Given the description of an element on the screen output the (x, y) to click on. 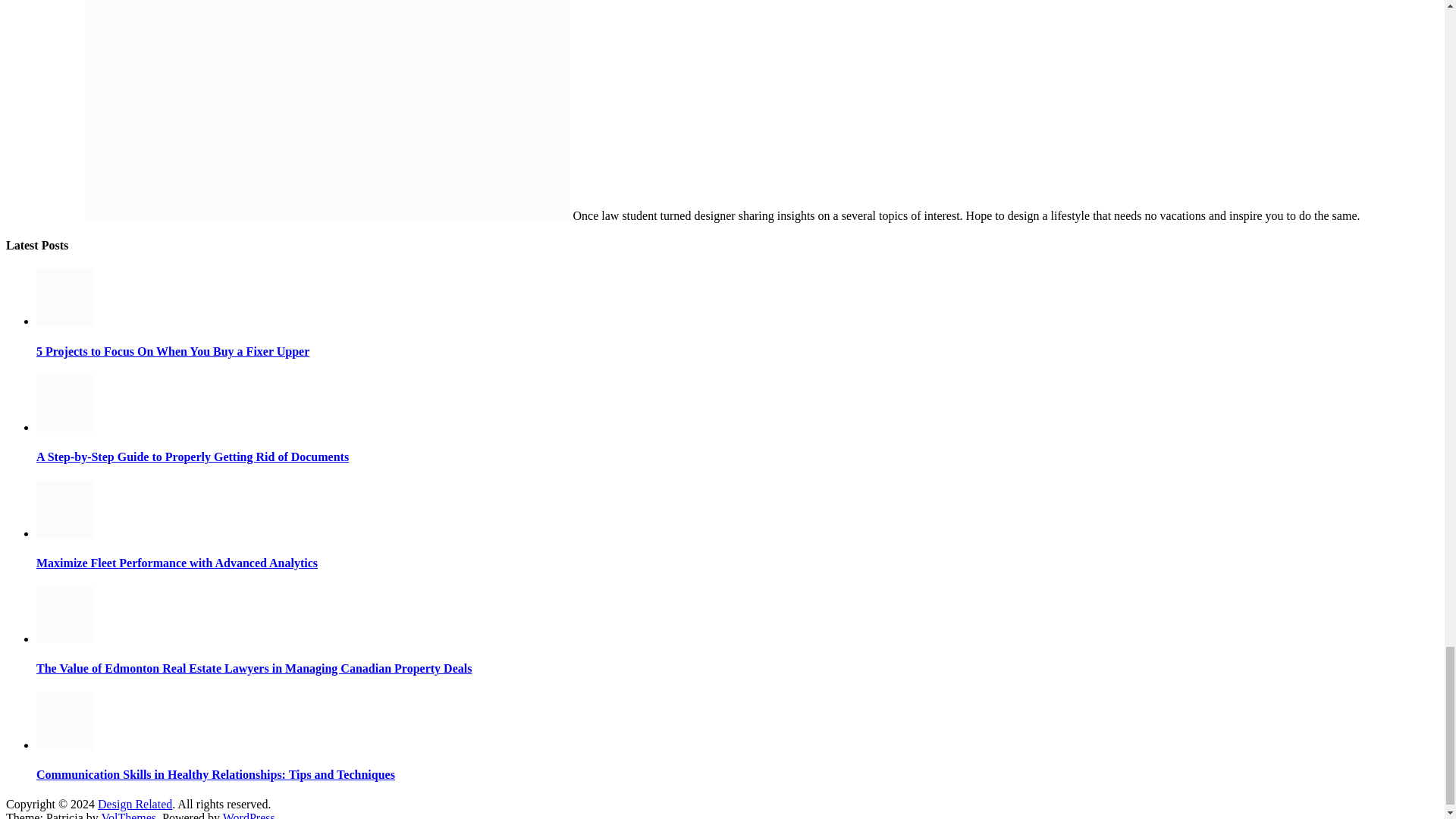
Maximize Fleet Performance with Advanced Analytics (64, 533)
Design Related (134, 803)
5 Projects to Focus On When You Buy a Fixer Upper (64, 320)
A Step-by-Step Guide to Properly Getting Rid of Documents (64, 427)
